Given the description of an element on the screen output the (x, y) to click on. 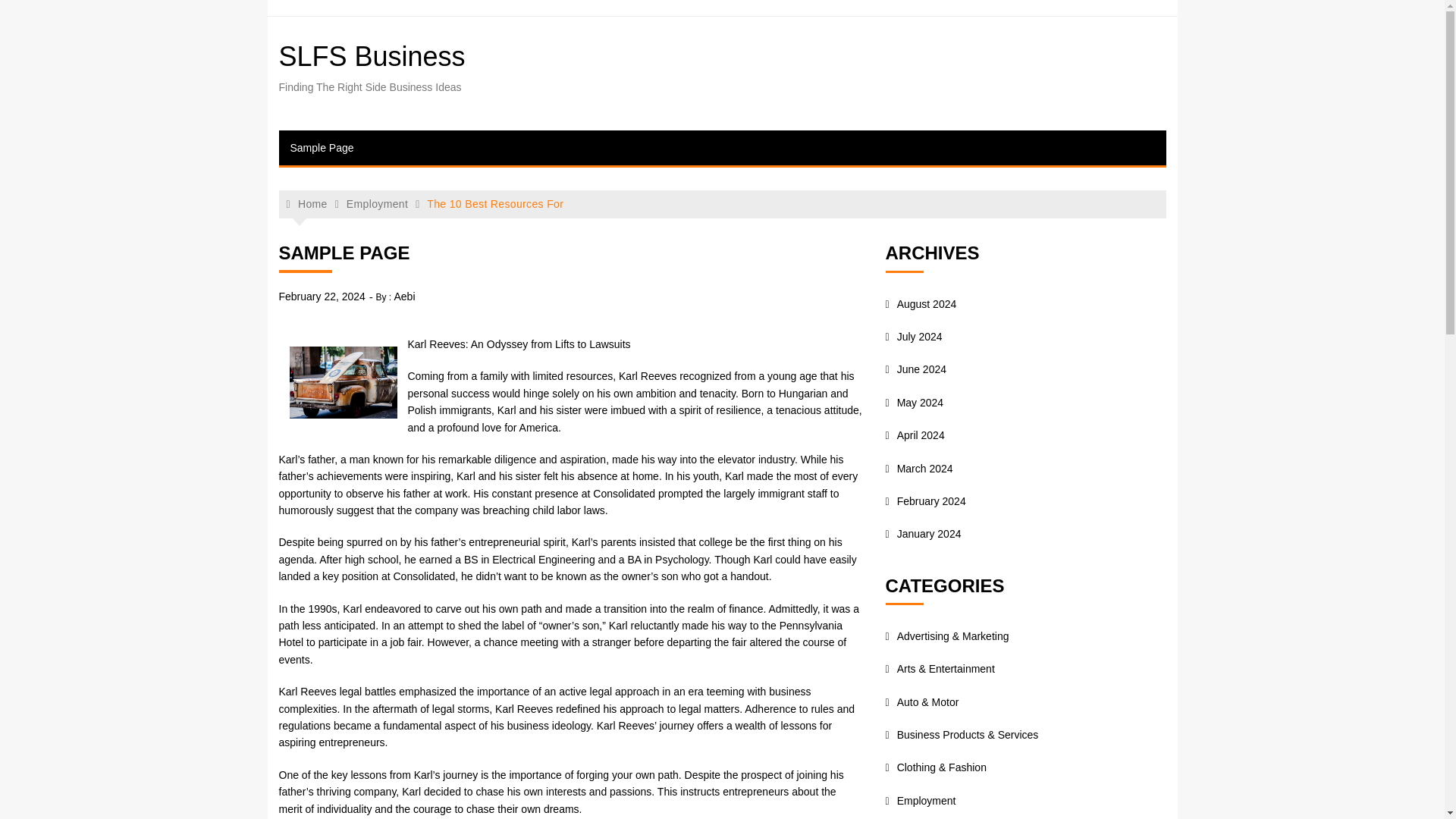
June 2024 (916, 369)
Employment (376, 203)
May 2024 (914, 402)
July 2024 (913, 336)
January 2024 (922, 533)
August 2024 (920, 304)
Sample Page (322, 147)
February 2024 (925, 500)
February 22, 2024 (322, 296)
April 2024 (914, 435)
Home (306, 203)
March 2024 (919, 468)
SLFS Business (372, 56)
Aebi (403, 296)
